Given the description of an element on the screen output the (x, y) to click on. 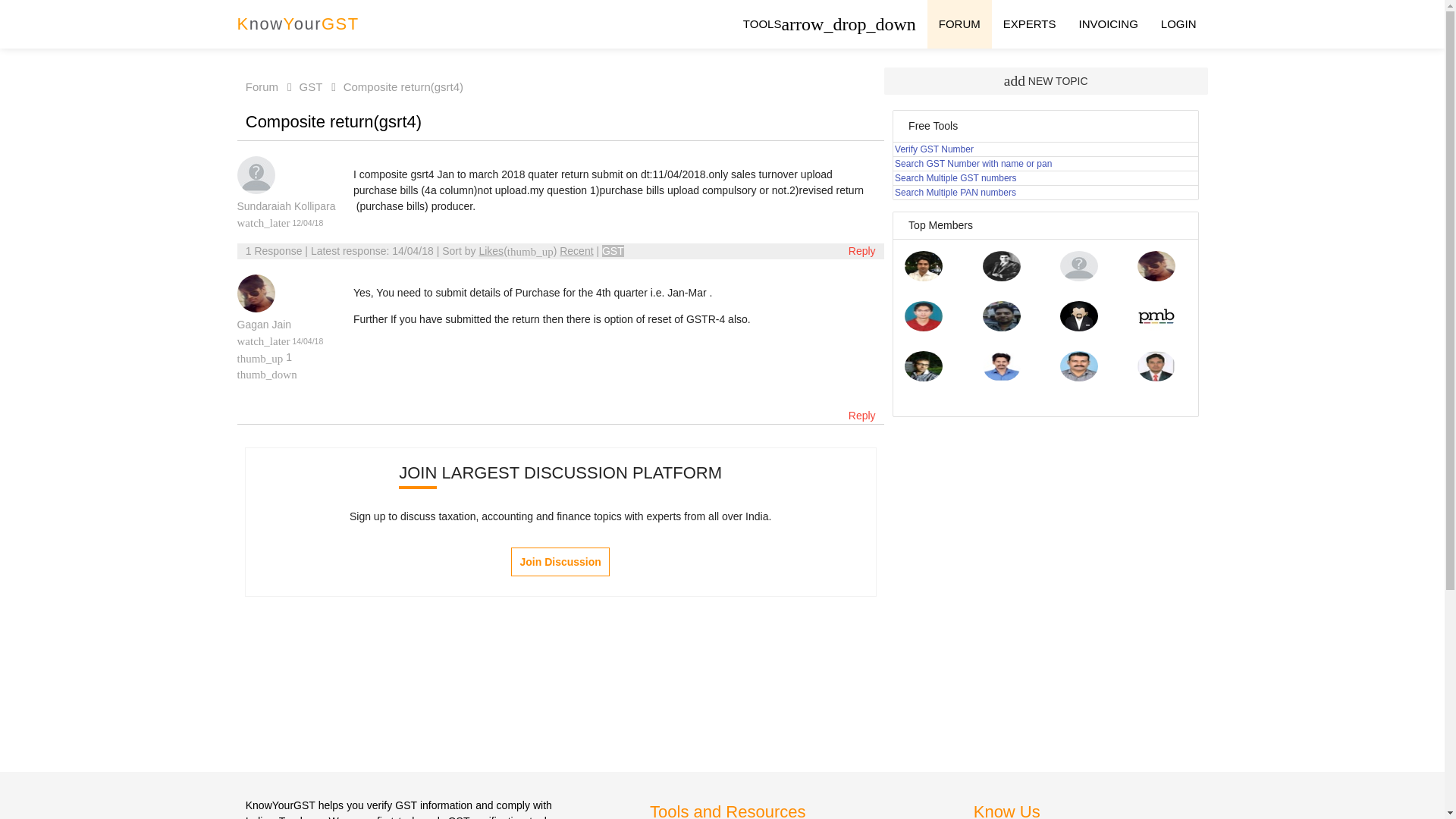
FORUM (959, 24)
GST (613, 250)
Recent (575, 250)
CA Ankit Sharma Expert Reputation: 626 (923, 327)
KnowYourGST (296, 24)
Click to Downvote this answer. (266, 372)
Gagan Jain Expert Reputation: 707 (1155, 277)
EXPERTS (1029, 24)
Participation reputation: 448 Expert reputation: 1106 (284, 205)
Pulkit Sharma Expert Reputation: 8851 (923, 277)
Gagan Jain (263, 324)
LOGIN (1179, 24)
Participation reputation: 198 Expert reputation: 707 (263, 324)
Sundaraiah Kollipara Expert Reputation: 1106 (1078, 277)
GST (301, 86)
